Given the description of an element on the screen output the (x, y) to click on. 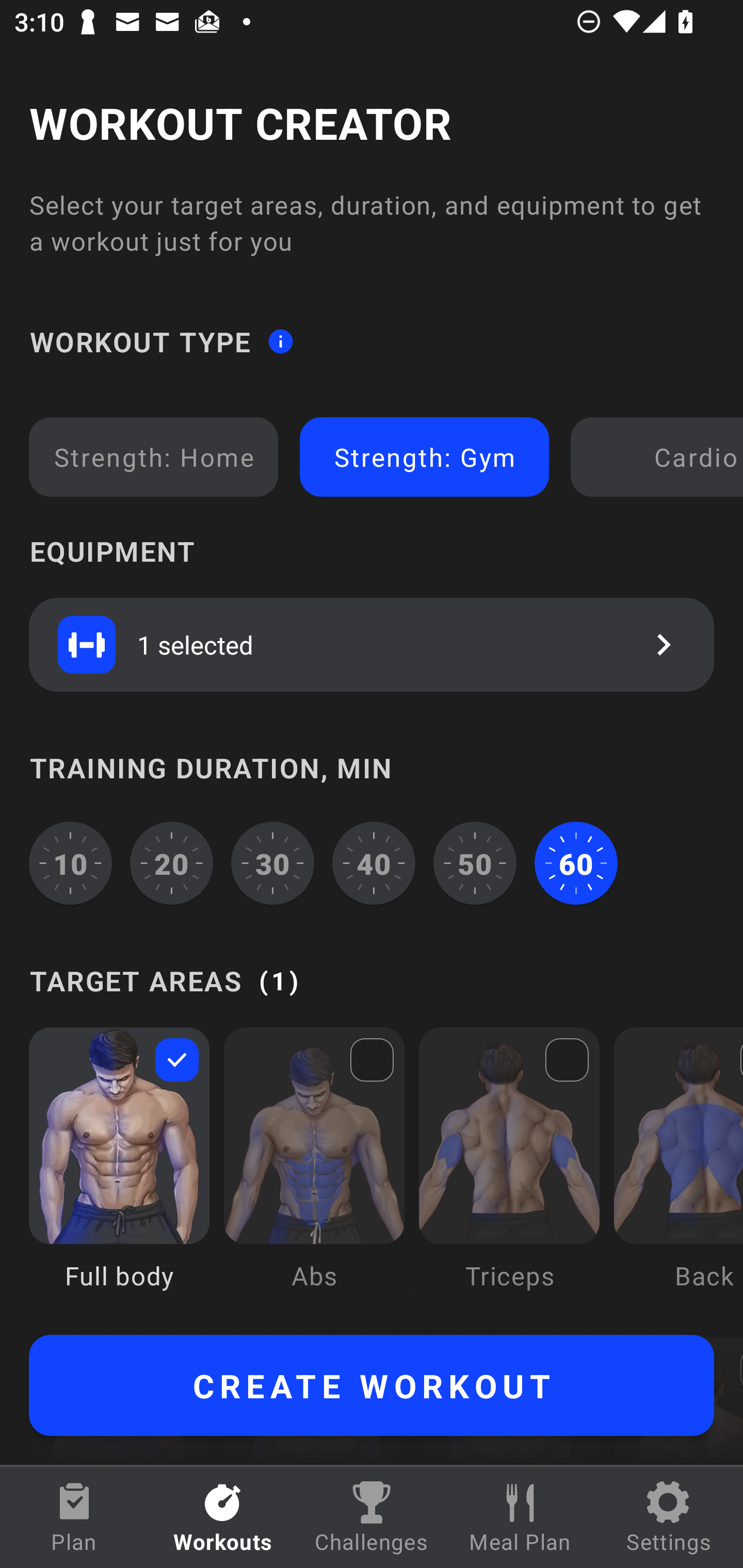
Workout type information button (280, 340)
Strength: Home (153, 457)
Cardio (660, 457)
1 selected (371, 644)
10 (70, 863)
20 (171, 863)
30 (272, 863)
40 (373, 863)
50 (474, 863)
60 (575, 863)
Abs (313, 1172)
Triceps (509, 1172)
Back (678, 1172)
CREATE WORKOUT (371, 1385)
 Plan  (74, 1517)
 Challenges  (371, 1517)
 Meal Plan  (519, 1517)
 Settings  (668, 1517)
